Given the description of an element on the screen output the (x, y) to click on. 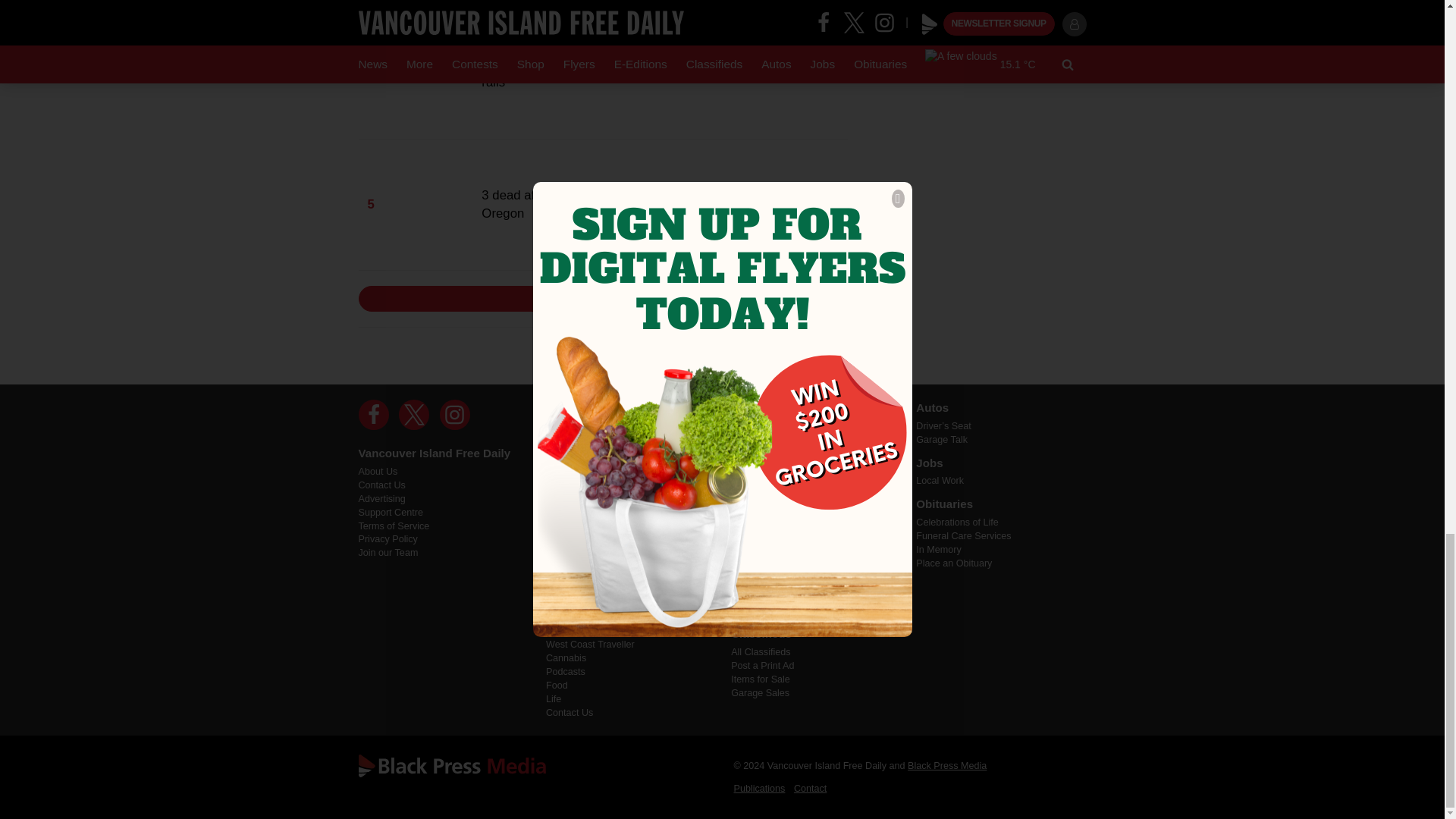
Show Comments (602, 298)
Facebook (373, 414)
X (413, 414)
Instagram (454, 414)
